Given the description of an element on the screen output the (x, y) to click on. 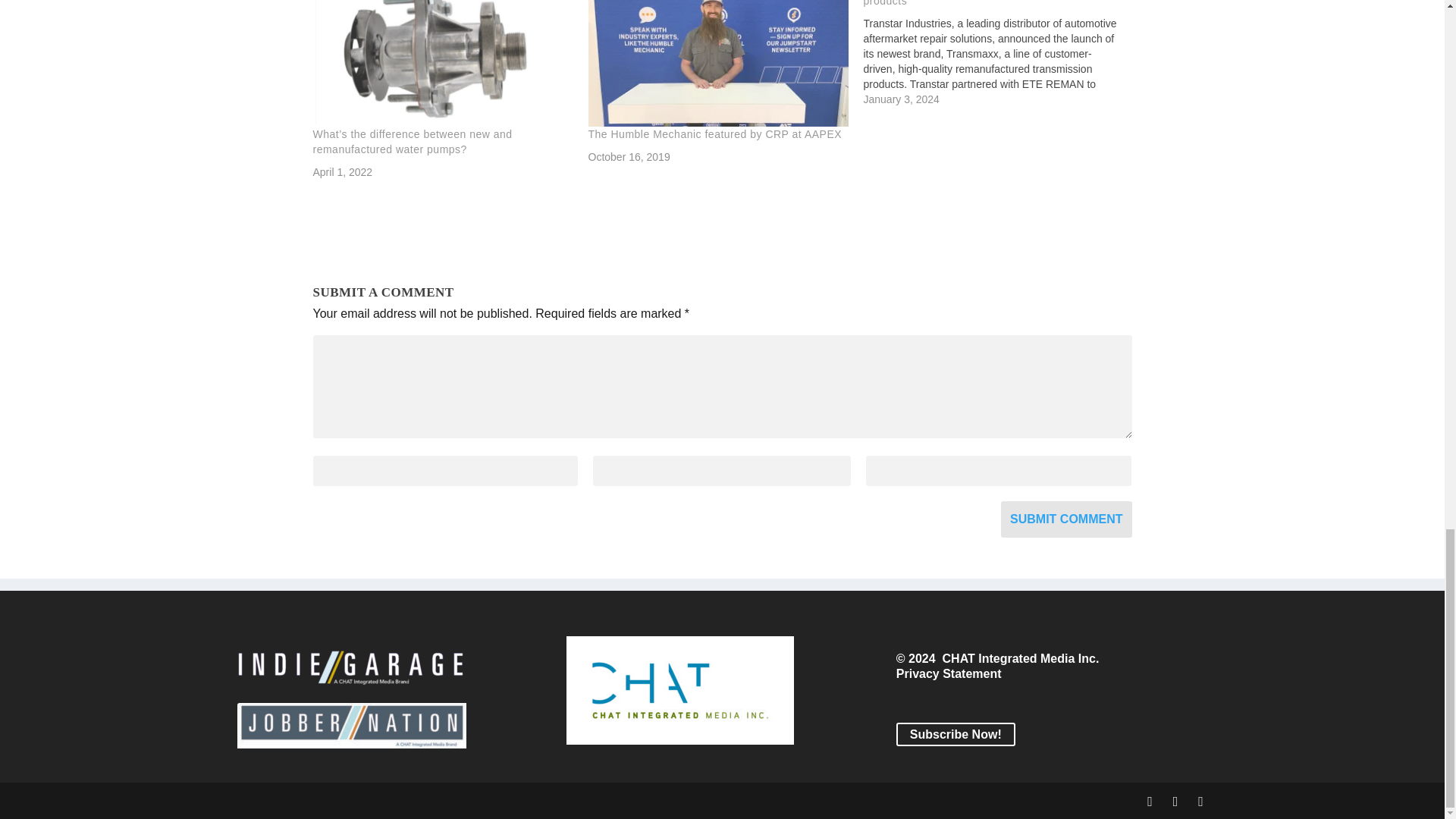
Transtar intros remanufactured transmission products (1000, 53)
Transtar intros remanufactured transmission products (975, 3)
The Humble Mechanic featured by CRP at AAPEX (718, 63)
The Humble Mechanic featured by CRP at AAPEX (715, 133)
The Humble Mechanic featured by CRP at AAPEX (715, 133)
Transtar intros remanufactured transmission products (975, 3)
SUBMIT COMMENT (1066, 519)
3rd party ad content (721, 237)
